Given the description of an element on the screen output the (x, y) to click on. 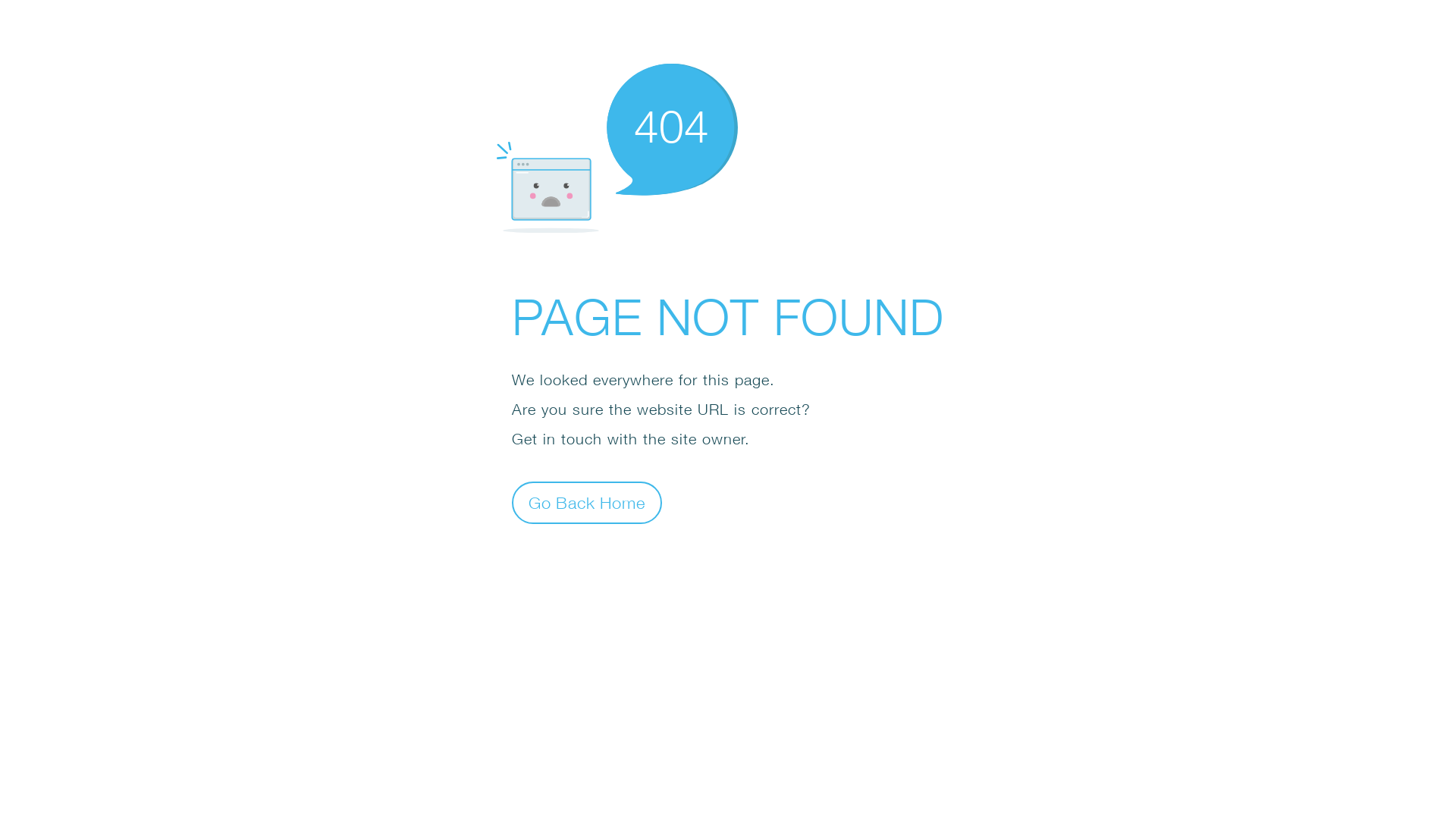
Go Back Home Element type: text (586, 502)
